Given the description of an element on the screen output the (x, y) to click on. 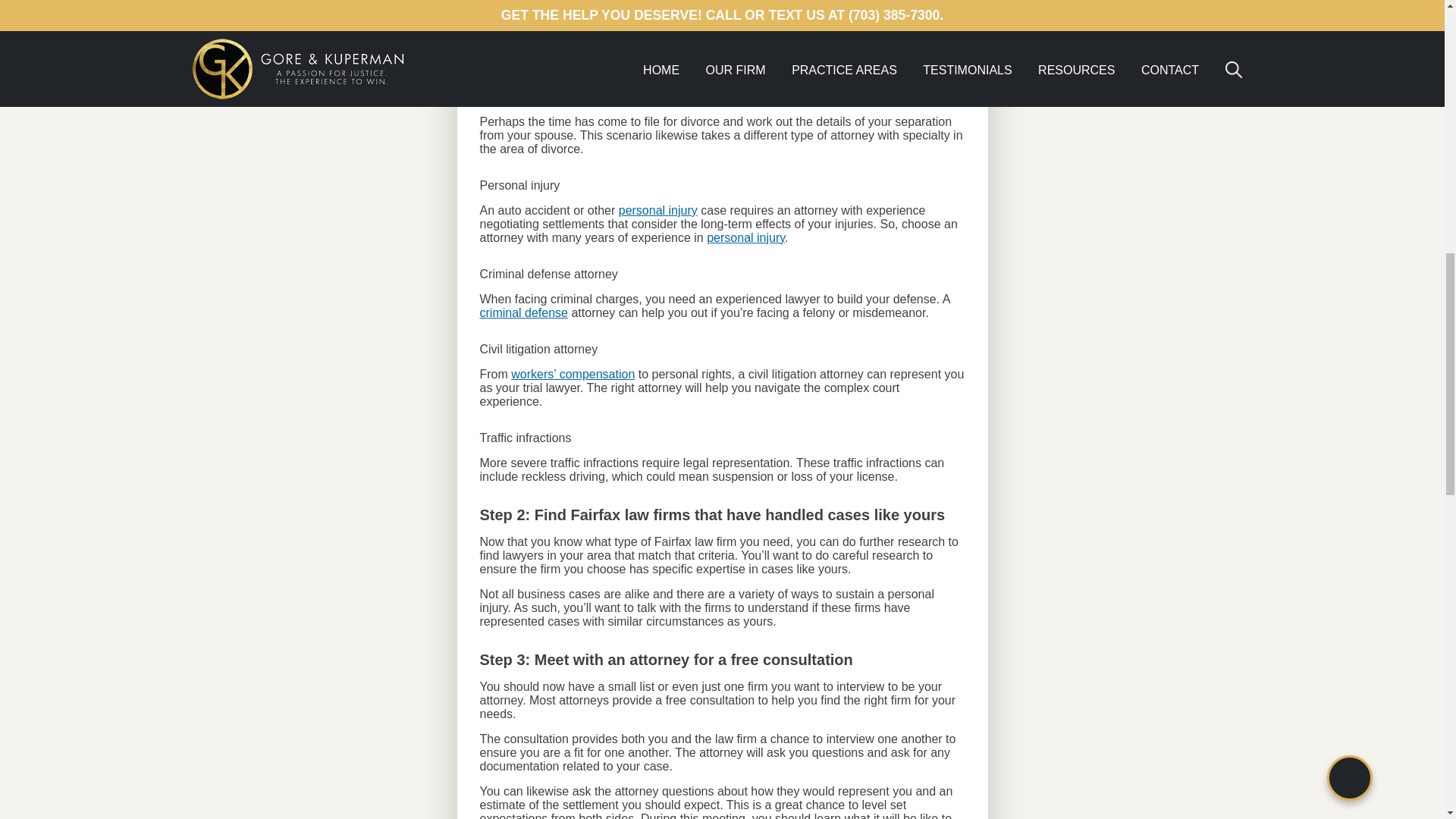
personal injury (745, 237)
criminal defense (523, 312)
personal injury (657, 210)
